Given the description of an element on the screen output the (x, y) to click on. 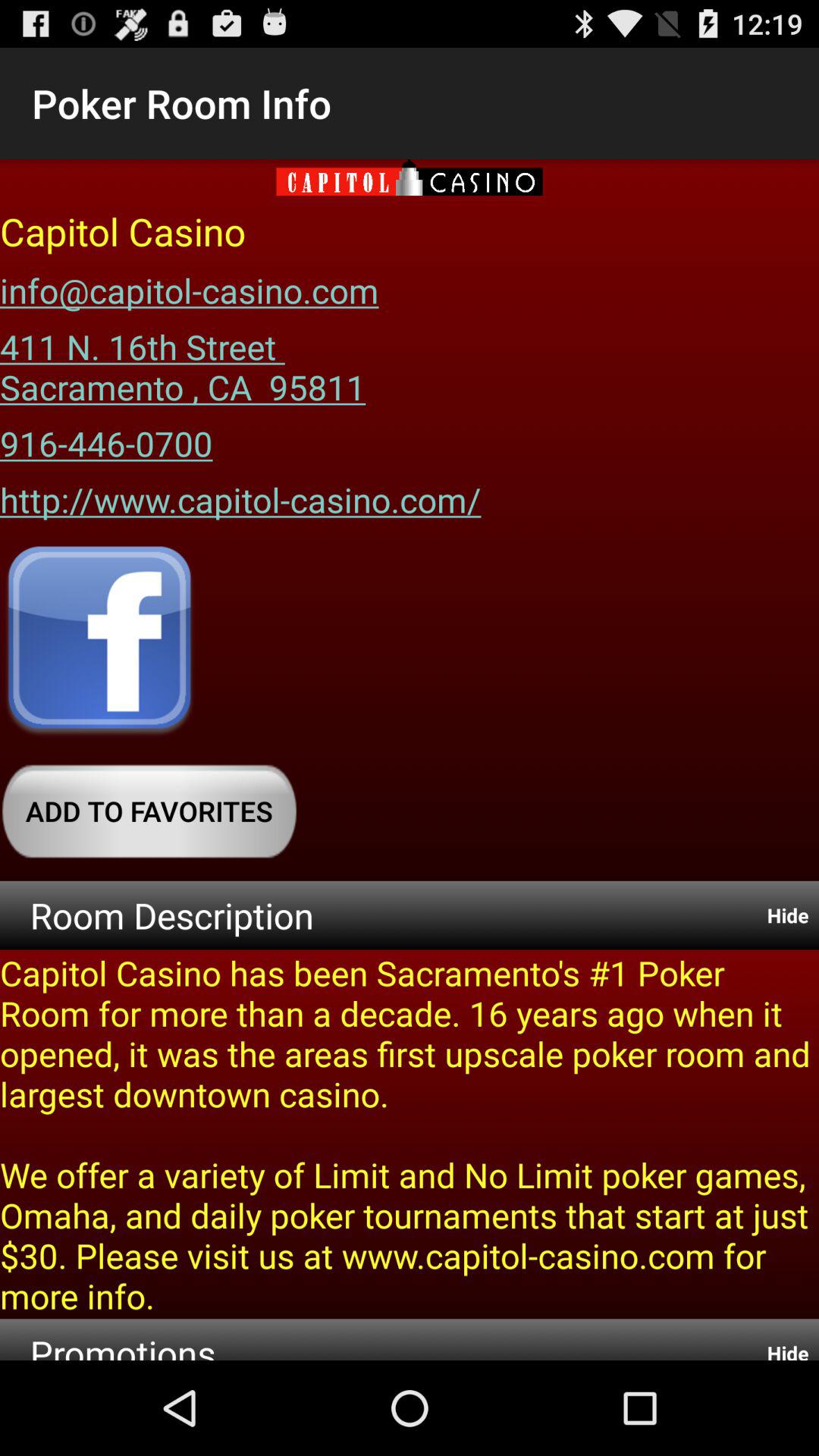
launch icon below the 916-446-0700 (240, 494)
